Given the description of an element on the screen output the (x, y) to click on. 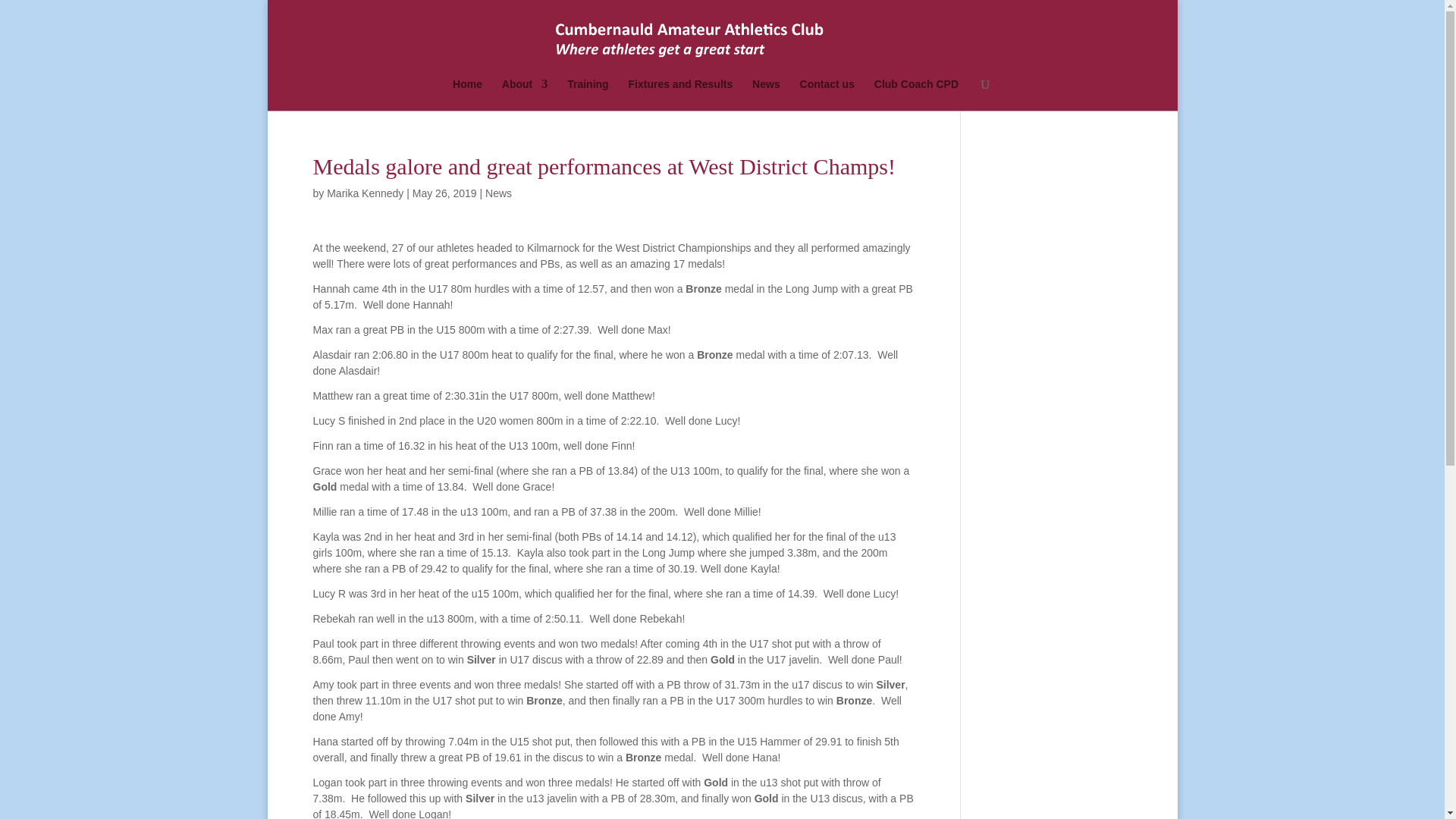
Posts by Marika Kennedy (364, 193)
Club Coach CPD (916, 94)
News (498, 193)
Training (587, 94)
Home (466, 94)
Contact us (826, 94)
Fixtures and Results (680, 94)
Marika Kennedy (364, 193)
About (524, 94)
